Given the description of an element on the screen output the (x, y) to click on. 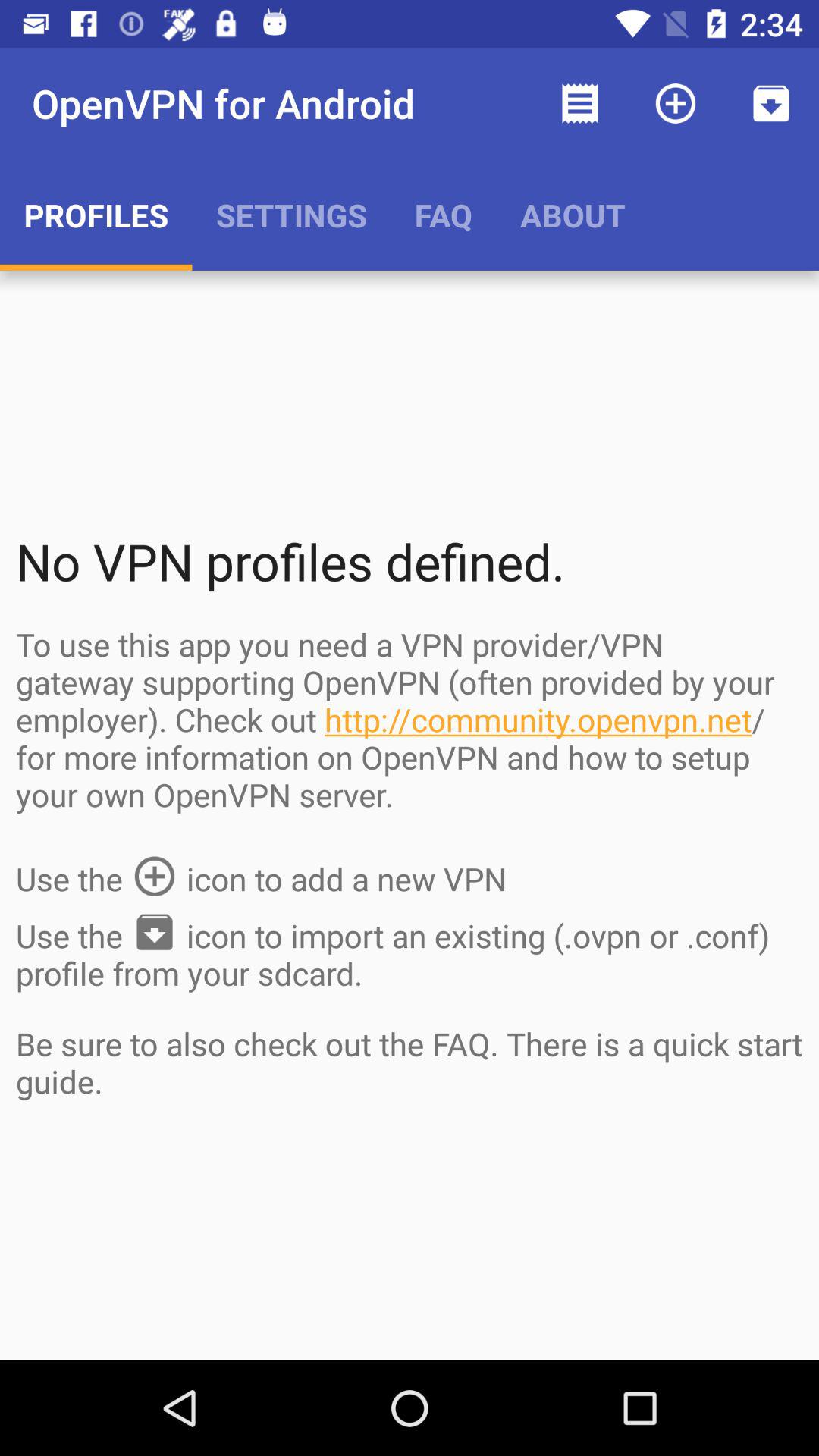
open settings app (291, 214)
